Given the description of an element on the screen output the (x, y) to click on. 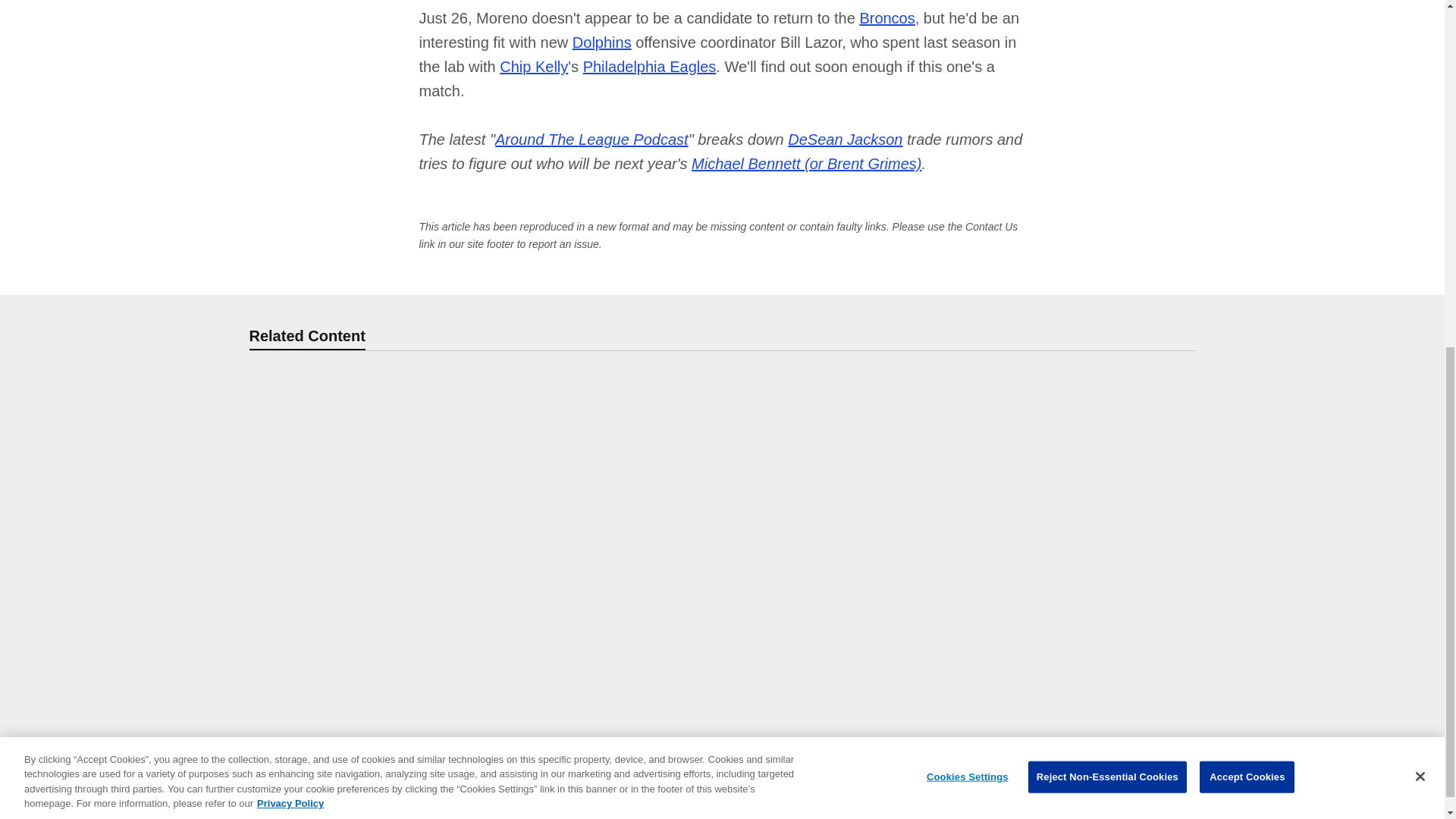
Around The League Podcast (591, 139)
Chip Kelly (533, 66)
Broncos (886, 17)
Dolphins (601, 42)
Philadelphia Eagles (649, 66)
Cookies Settings (967, 164)
Accept Cookies (1246, 164)
DeSean Jackson (844, 139)
Privacy Policy (290, 190)
Reject Non-Essential Cookies (1106, 164)
